Given the description of an element on the screen output the (x, y) to click on. 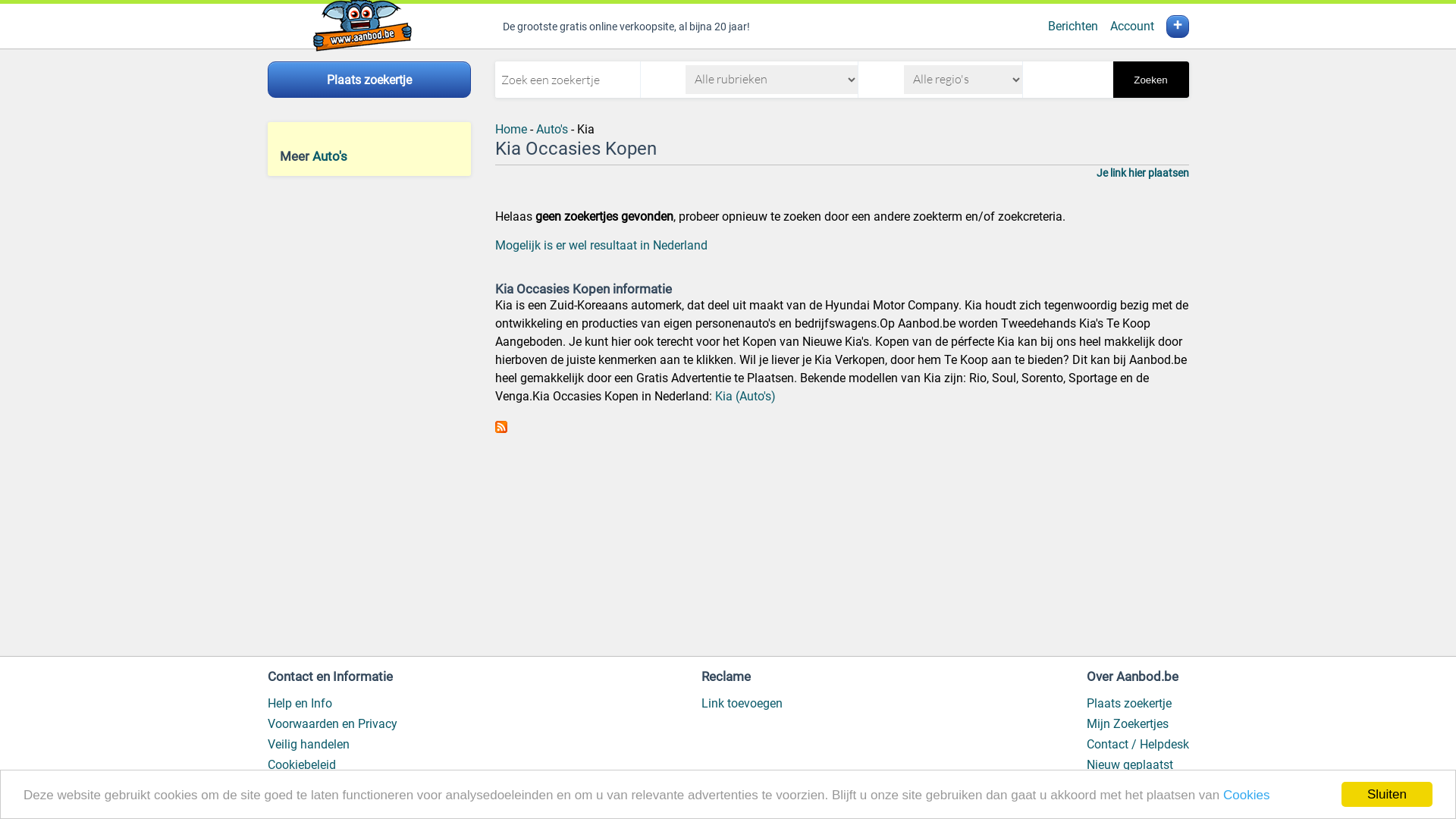
Plaats zoekertje Element type: text (368, 79)
RSS - Kia Element type: hover (500, 428)
Mogelijk is er wel resultaat in Nederland Element type: text (600, 245)
+ Element type: text (1177, 26)
Auto's Element type: text (551, 129)
Kia (Auto's) Element type: text (744, 396)
Help en Info Element type: text (298, 703)
Veilig handelen Element type: text (307, 744)
Auto's Element type: text (329, 155)
Contact / Helpdesk Element type: text (1136, 744)
Zoeken Element type: text (1151, 79)
Nieuw geplaatst Element type: text (1128, 764)
Plaats zoekertje Element type: text (1127, 703)
vi@net Element type: text (368, 799)
Berichten Element type: text (1073, 25)
Link toevoegen Element type: text (740, 703)
Home Element type: text (510, 129)
Mijn Zoekertjes Element type: text (1126, 723)
Voorwaarden en Privacy Element type: text (331, 723)
Je link hier plaatsen Element type: text (1142, 172)
Sluiten Element type: text (1386, 793)
Cookies Element type: text (1246, 794)
Account Element type: text (1132, 25)
Cookiebeleid Element type: text (300, 764)
